Given the description of an element on the screen output the (x, y) to click on. 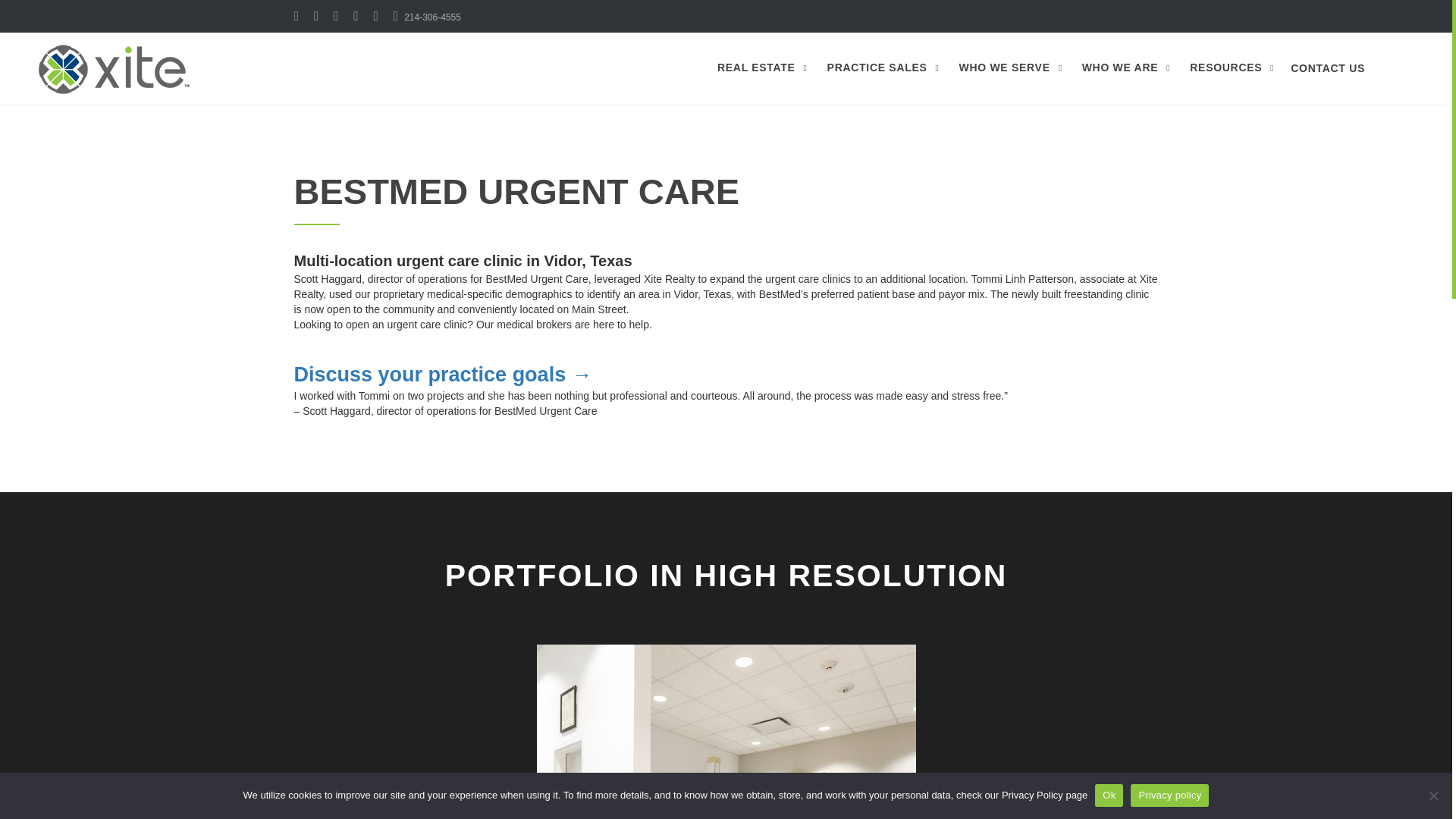
No (1433, 795)
WHO WE ARE (1123, 66)
PRACTICE SALES (881, 66)
WHO WE SERVE (1008, 66)
214-306-4555 (427, 17)
REAL ESTATE (759, 66)
RESOURCES (1229, 66)
